Given the description of an element on the screen output the (x, y) to click on. 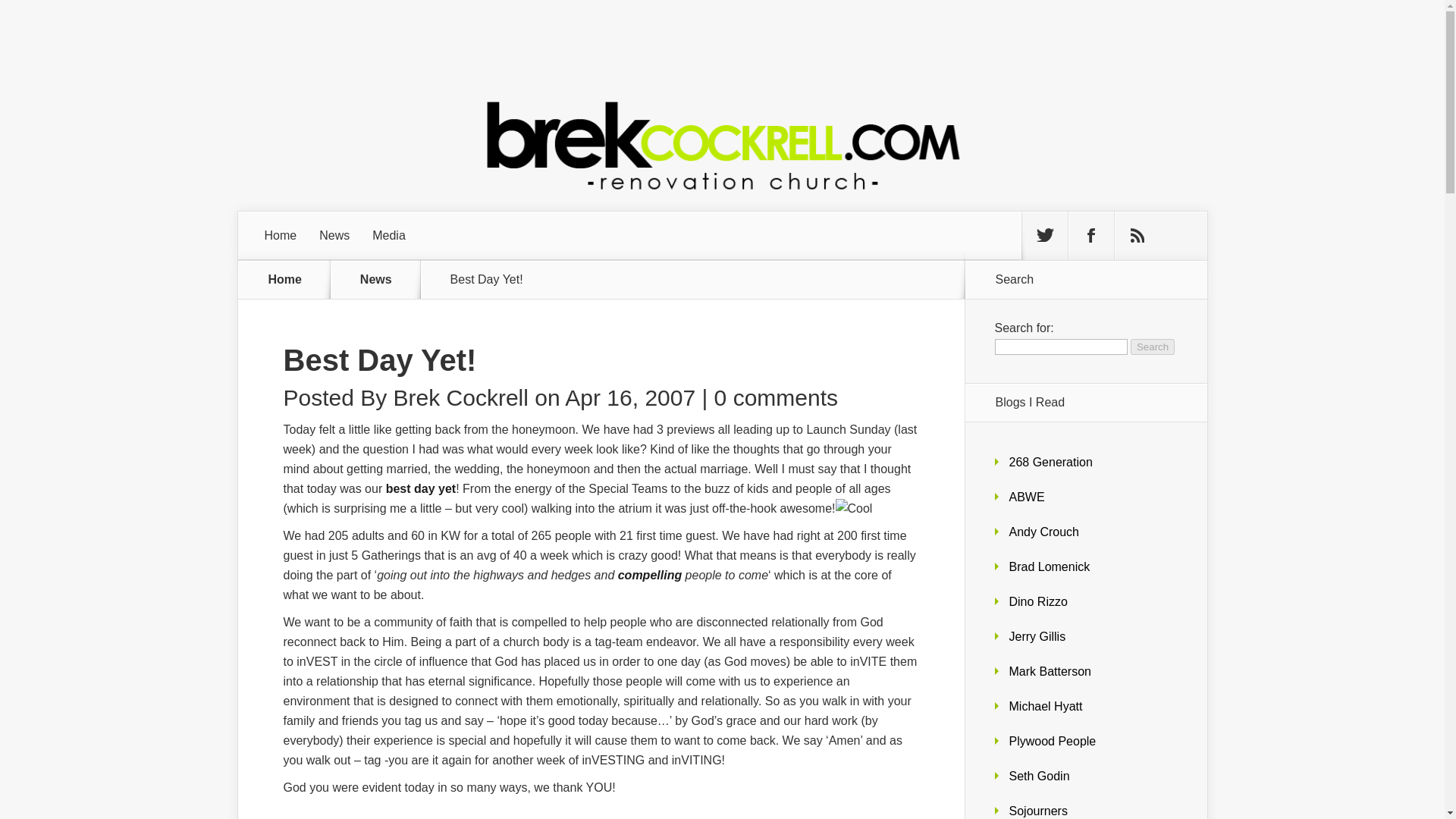
Search (1152, 346)
Michael Hyatt (1045, 706)
268 Generation (1050, 461)
Follow us on Twitter (1044, 235)
0 comments (776, 397)
Follow us on Facebook (1090, 235)
Andy Crouch (1043, 531)
News (334, 235)
Home (285, 278)
News (384, 278)
